Given the description of an element on the screen output the (x, y) to click on. 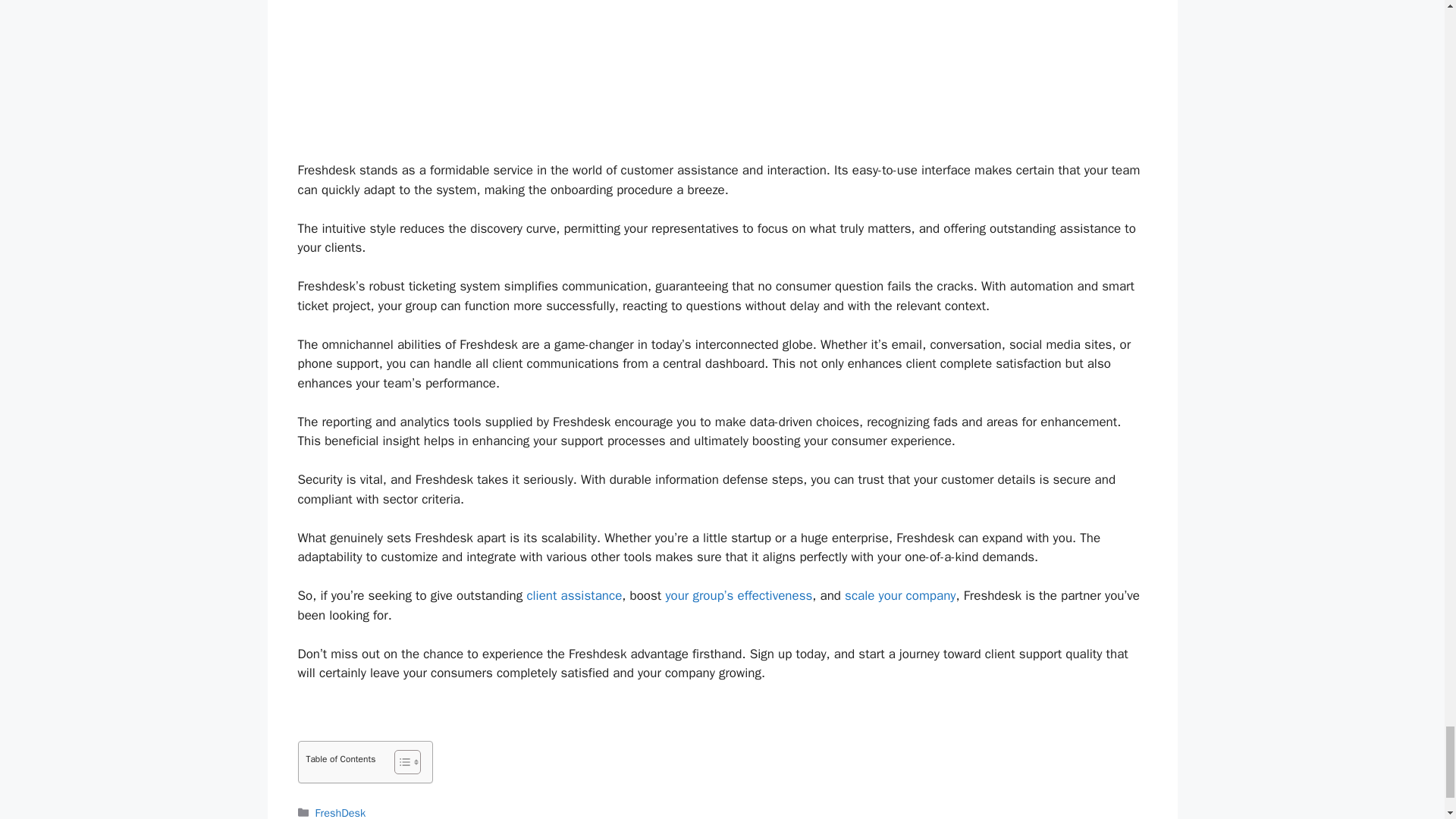
scale your company (899, 595)
client assistance (573, 595)
FreshDesk (340, 812)
